Given the description of an element on the screen output the (x, y) to click on. 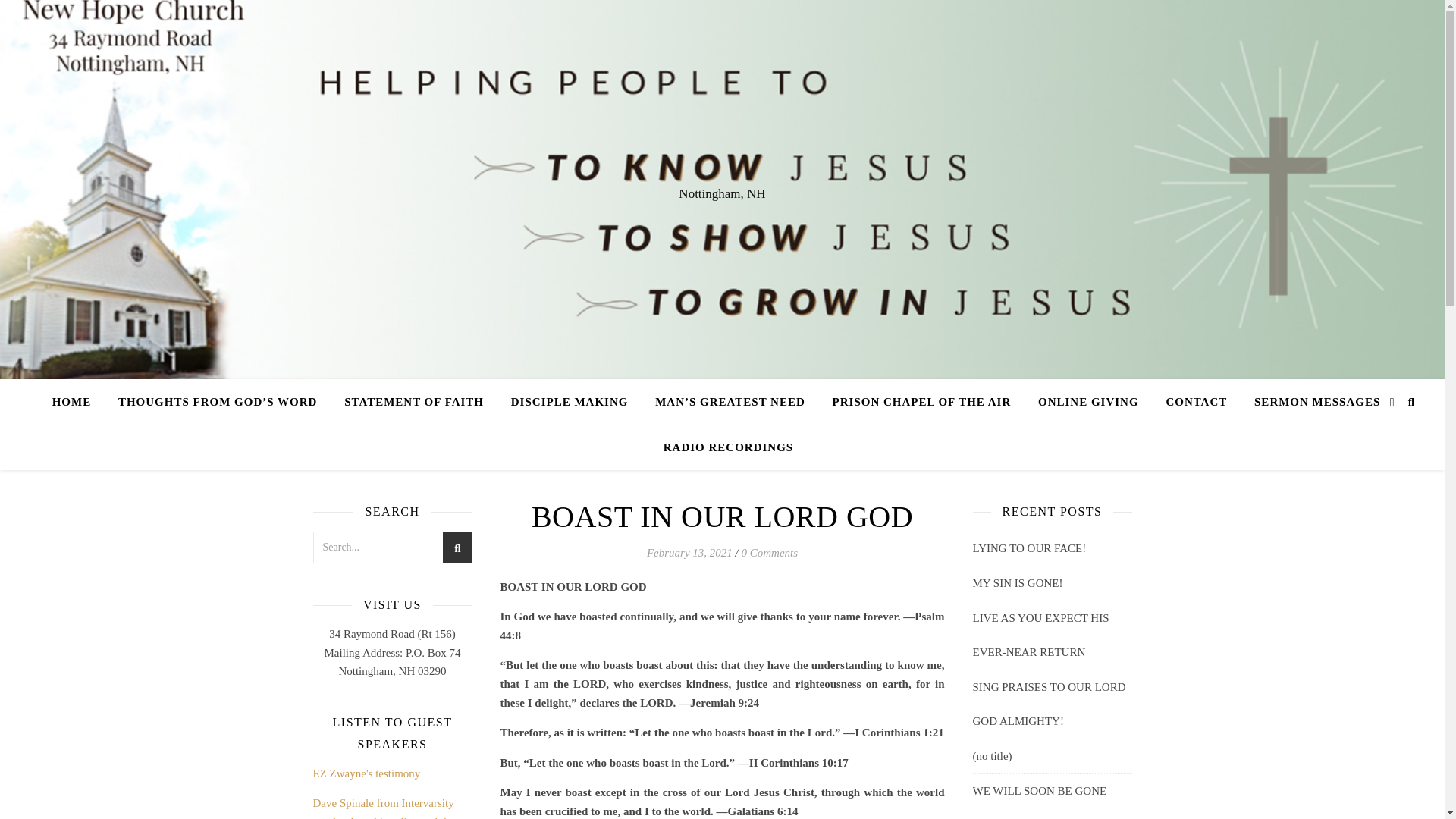
To show and know Jesus (729, 402)
HOME (77, 402)
STATEMENT OF FAITH (413, 402)
EZ Zwayne's testimony (366, 773)
CONTACT (1196, 402)
DISCIPLE MAKING (569, 402)
ONLINE GIVING (1088, 402)
RADIO RECORDINGS (721, 447)
LYING TO OUR FACE! (1029, 548)
